Given the description of an element on the screen output the (x, y) to click on. 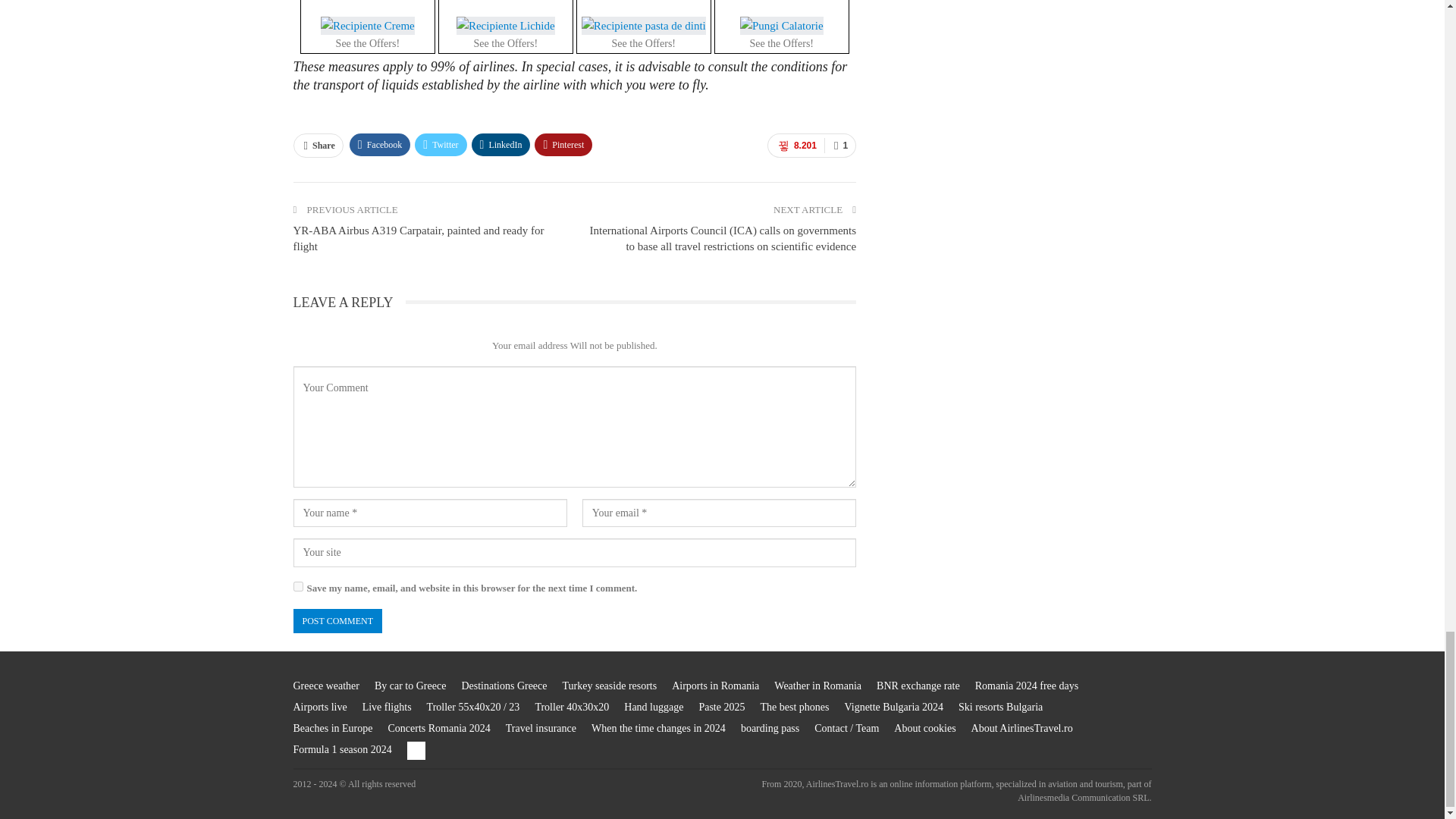
Liquid container (505, 26)
See the Offers! (367, 26)
Toothpaste containers (643, 26)
Post Comment (336, 621)
See the Offers! (781, 26)
Cream container (367, 26)
Travel bags (781, 26)
yes (297, 586)
See the Offers! (505, 26)
airports in romania (714, 685)
See the Offers! (643, 26)
